Given the description of an element on the screen output the (x, y) to click on. 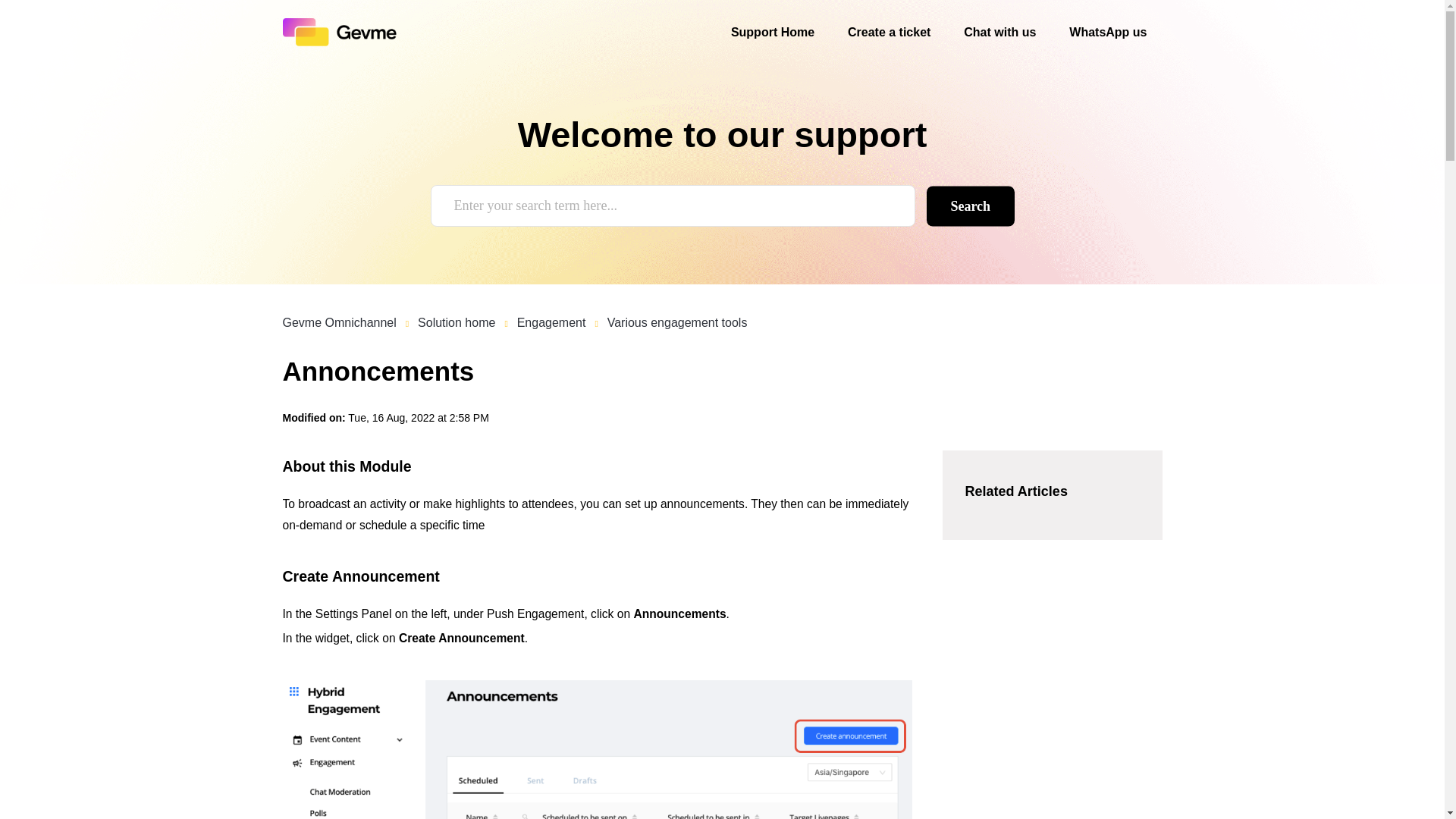
Search (970, 205)
Various engagement tools (677, 322)
Gevme Omnichannel (348, 322)
Chat (1406, 779)
Create a ticket (888, 32)
Solution home (456, 322)
WhatsApp us (1107, 32)
Engagement (551, 322)
Chat with us (999, 32)
Support Home (772, 32)
Gevme Omnichannel (339, 322)
